Given the description of an element on the screen output the (x, y) to click on. 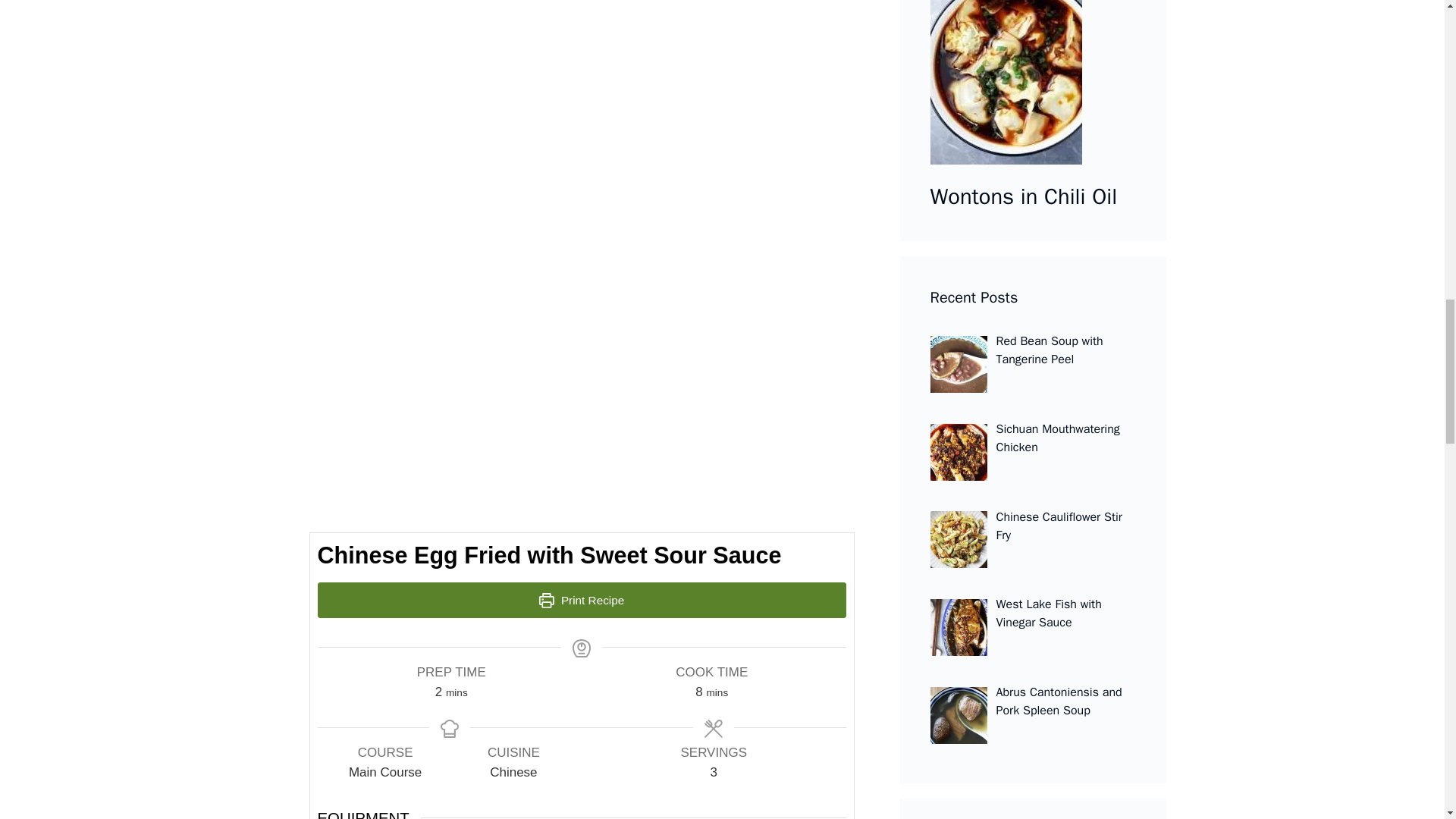
Wontons in Chili Oil (1032, 84)
